Given the description of an element on the screen output the (x, y) to click on. 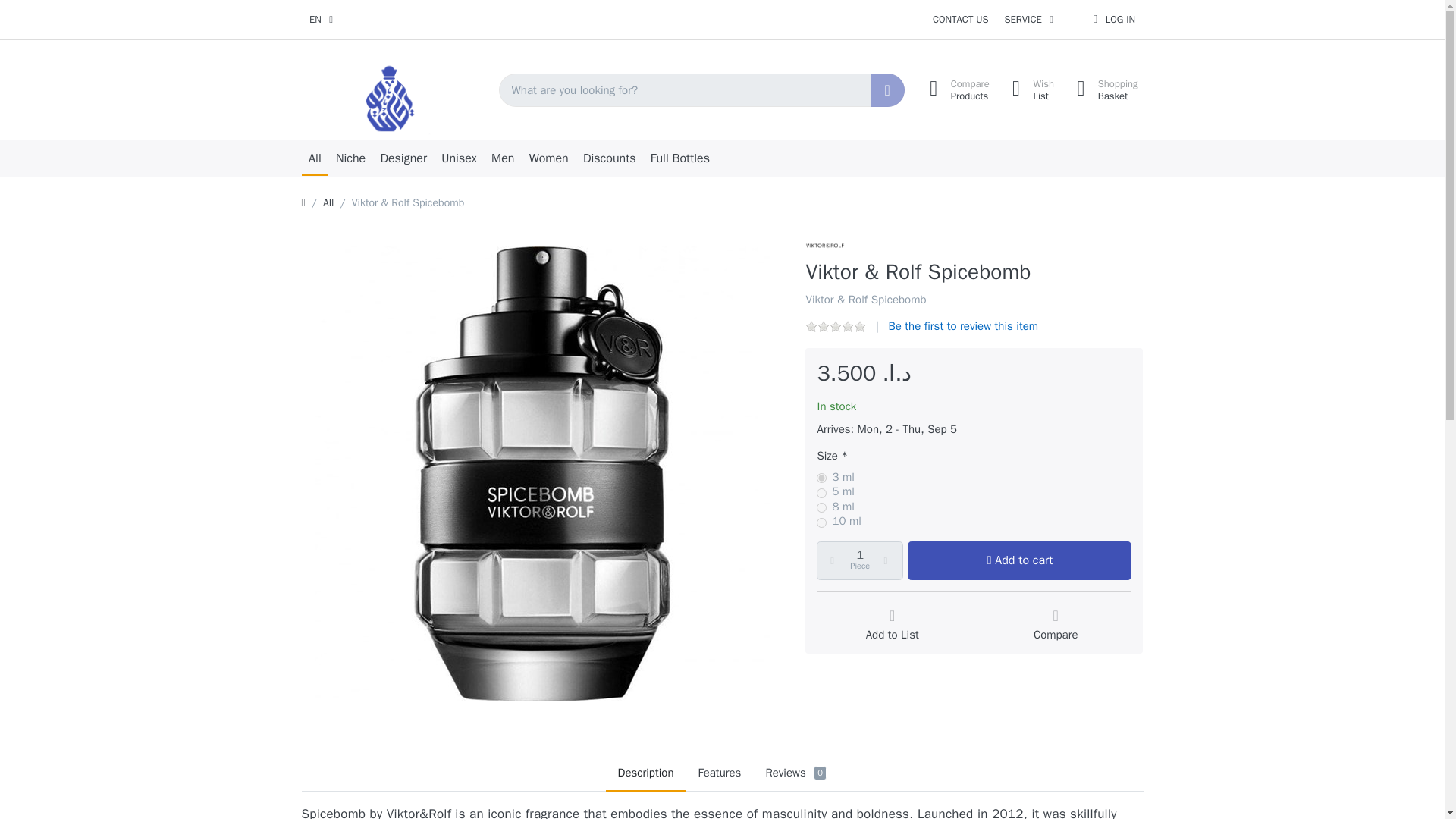
Add to cart (1019, 560)
DecantJo (394, 109)
Full Bottles (679, 158)
Discounts (609, 158)
Designer (402, 158)
Be the first to review this item (1102, 90)
Unisex (963, 325)
EN (458, 158)
CONTACT US (320, 19)
